Given the description of an element on the screen output the (x, y) to click on. 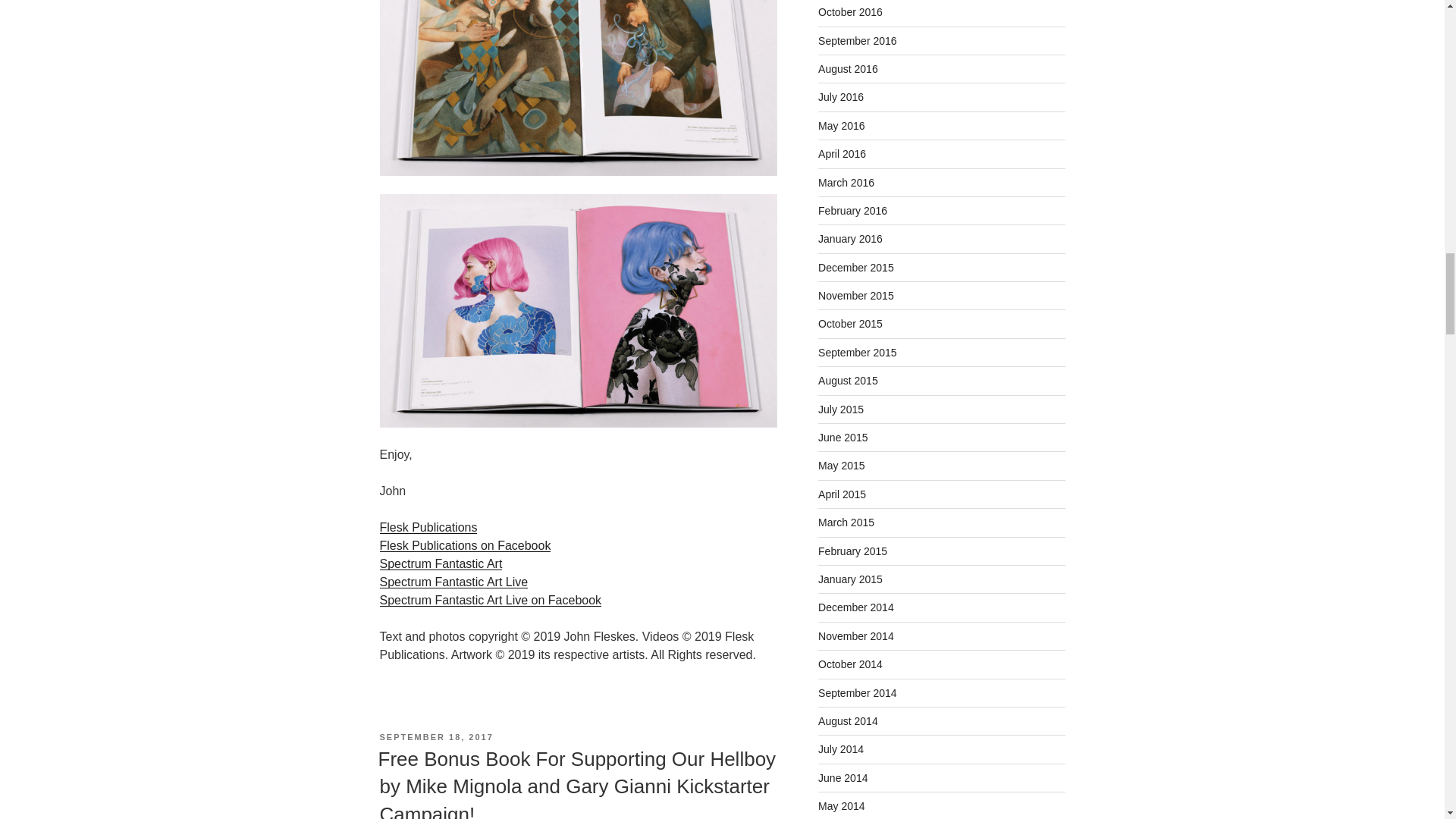
Spectrum Fantastic Art Live (452, 581)
Flesk Publications (427, 526)
Spectrum Fantastic Art (440, 563)
SEPTEMBER 18, 2017 (435, 737)
Spectrum Fantastic Art Live on Facebook (489, 599)
Flesk Publications on Facebook (464, 545)
